Given the description of an element on the screen output the (x, y) to click on. 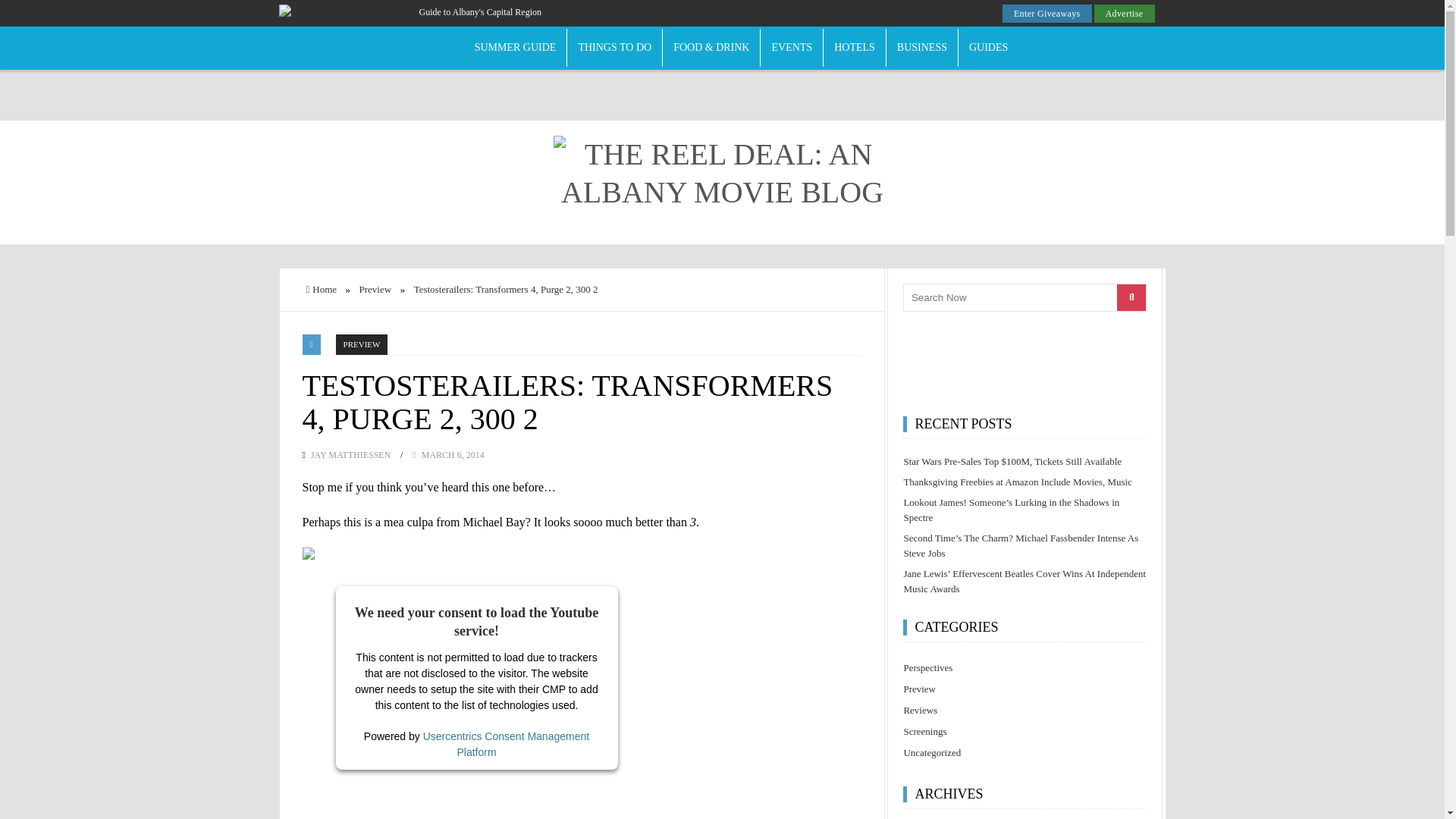
Weather Forecast (758, 13)
SUMMER GUIDE (515, 48)
Advertise (1124, 13)
Enter Giveaways (1047, 13)
Weather (758, 14)
View all posts in Preview (362, 344)
Posts by Jay Matthiessen (350, 455)
THINGS TO DO (614, 48)
